Given the description of an element on the screen output the (x, y) to click on. 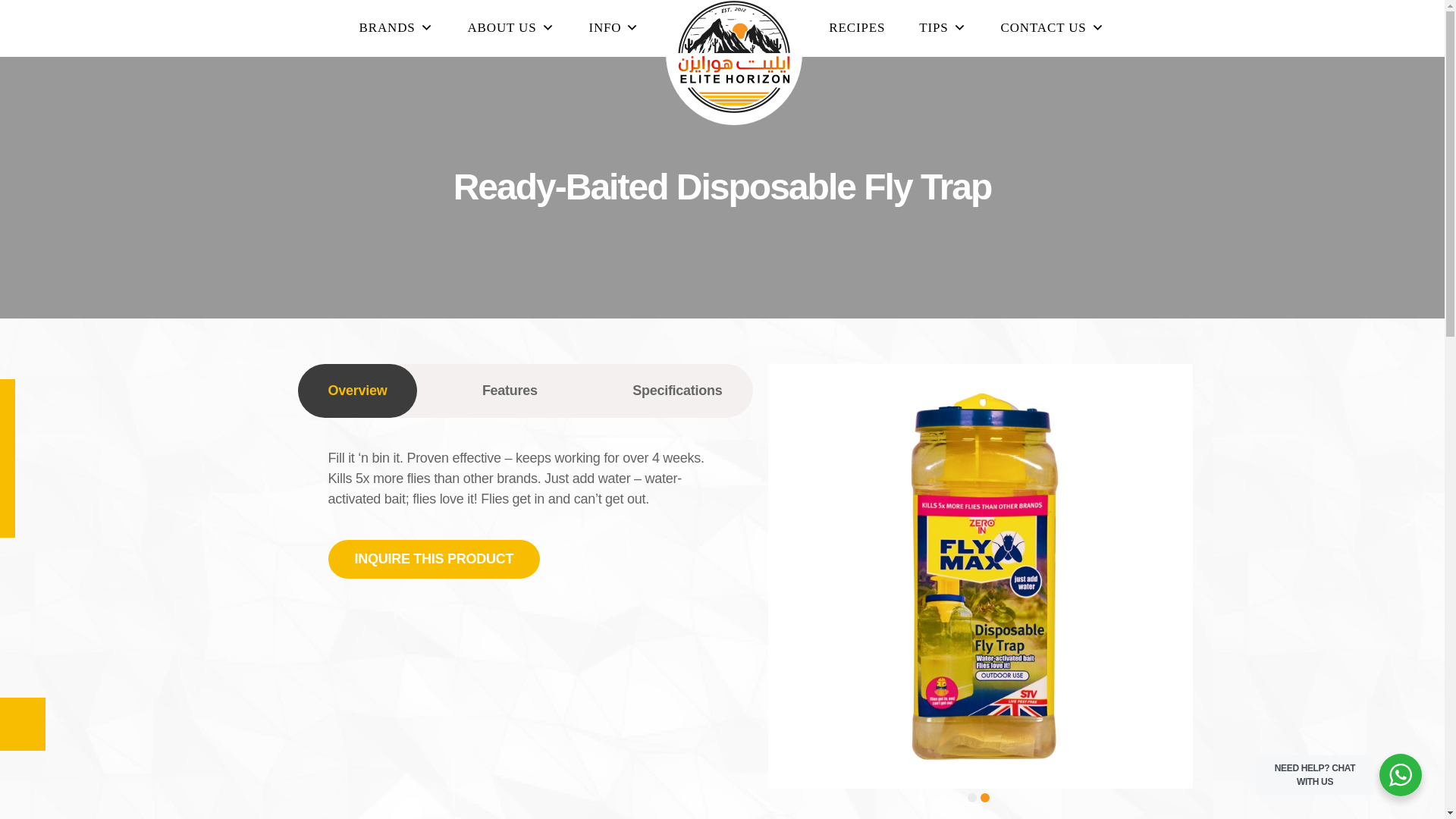
BRANDS (396, 27)
